Given the description of an element on the screen output the (x, y) to click on. 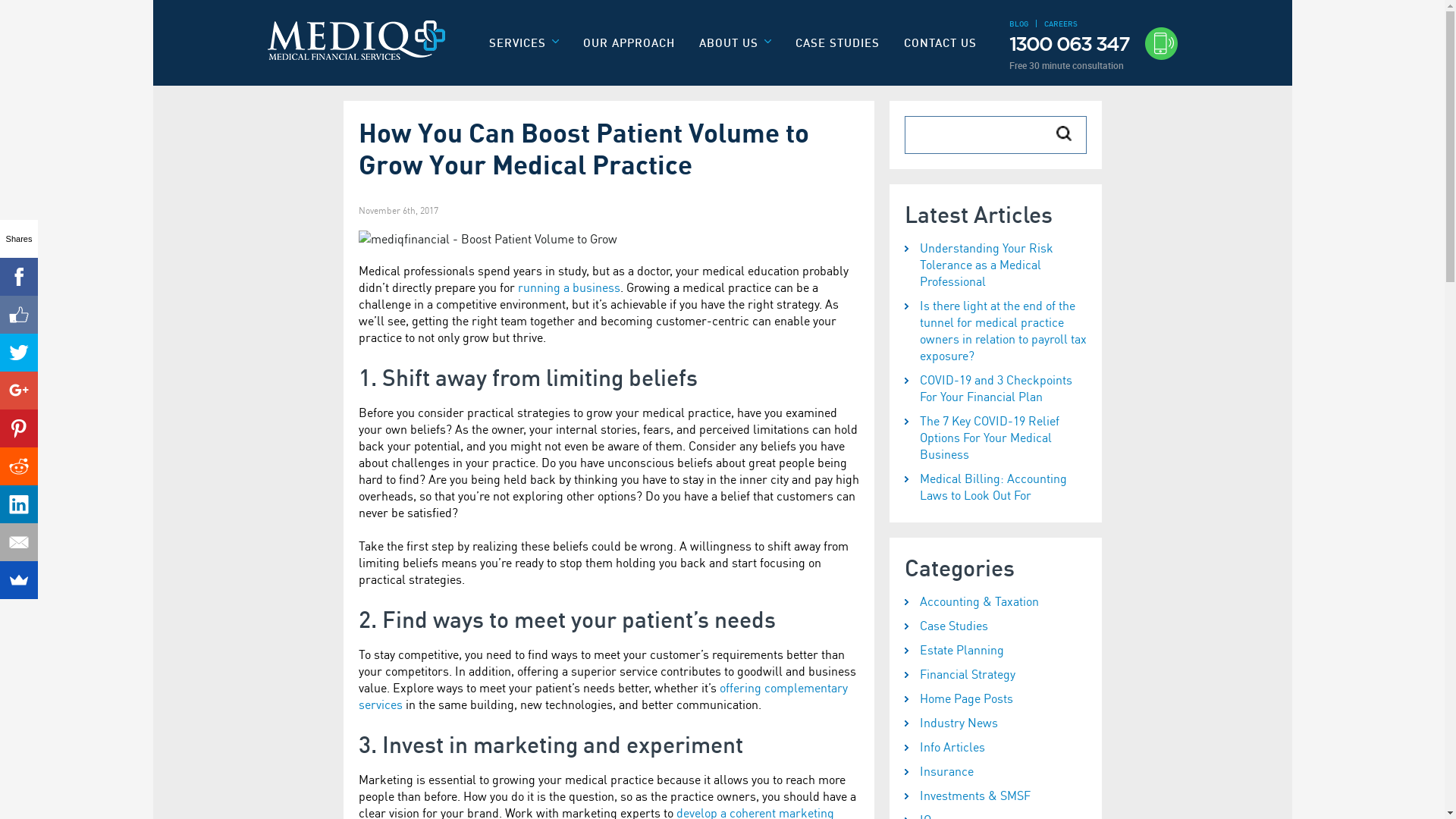
Pinterest Element type: hover (18, 428)
Case Studies Element type: text (994, 625)
ABOUT US Element type: text (735, 47)
Email Element type: hover (18, 542)
Info Articles Element type: text (994, 746)
1300 063 347 Element type: text (1092, 43)
offering complementary services Element type: text (602, 695)
Reddit Element type: hover (18, 466)
running a business Element type: text (568, 286)
Understanding Your Risk Tolerance as a Medical Professional Element type: text (994, 264)
CAREERS Element type: text (1059, 23)
Free 30 minute consultation Element type: text (1092, 64)
Financial Strategy Element type: text (994, 673)
Search Element type: text (1062, 133)
SumoMe Element type: hover (18, 580)
Industry News Element type: text (994, 722)
Insurance Element type: text (994, 770)
Facebook Like Element type: hover (18, 314)
CASE STUDIES Element type: text (837, 42)
Google+ Element type: hover (18, 390)
COVID-19 and 3 Checkpoints For Your Financial Plan Element type: text (994, 387)
Twitter Element type: hover (18, 352)
BLOG Element type: text (1017, 23)
LinkedIn Element type: hover (18, 504)
OUR APPROACH Element type: text (628, 42)
SERVICES Element type: text (523, 47)
Medical Billing: Accounting Laws to Look Out For Element type: text (994, 486)
Facebook Element type: hover (18, 276)
Estate Planning Element type: text (994, 649)
Accounting & Taxation Element type: text (994, 601)
CONTACT US Element type: text (939, 42)
Home Page Posts Element type: text (994, 698)
Investments & SMSF Element type: text (994, 795)
The 7 Key COVID-19 Relief Options For Your Medical Business Element type: text (994, 437)
